Given the description of an element on the screen output the (x, y) to click on. 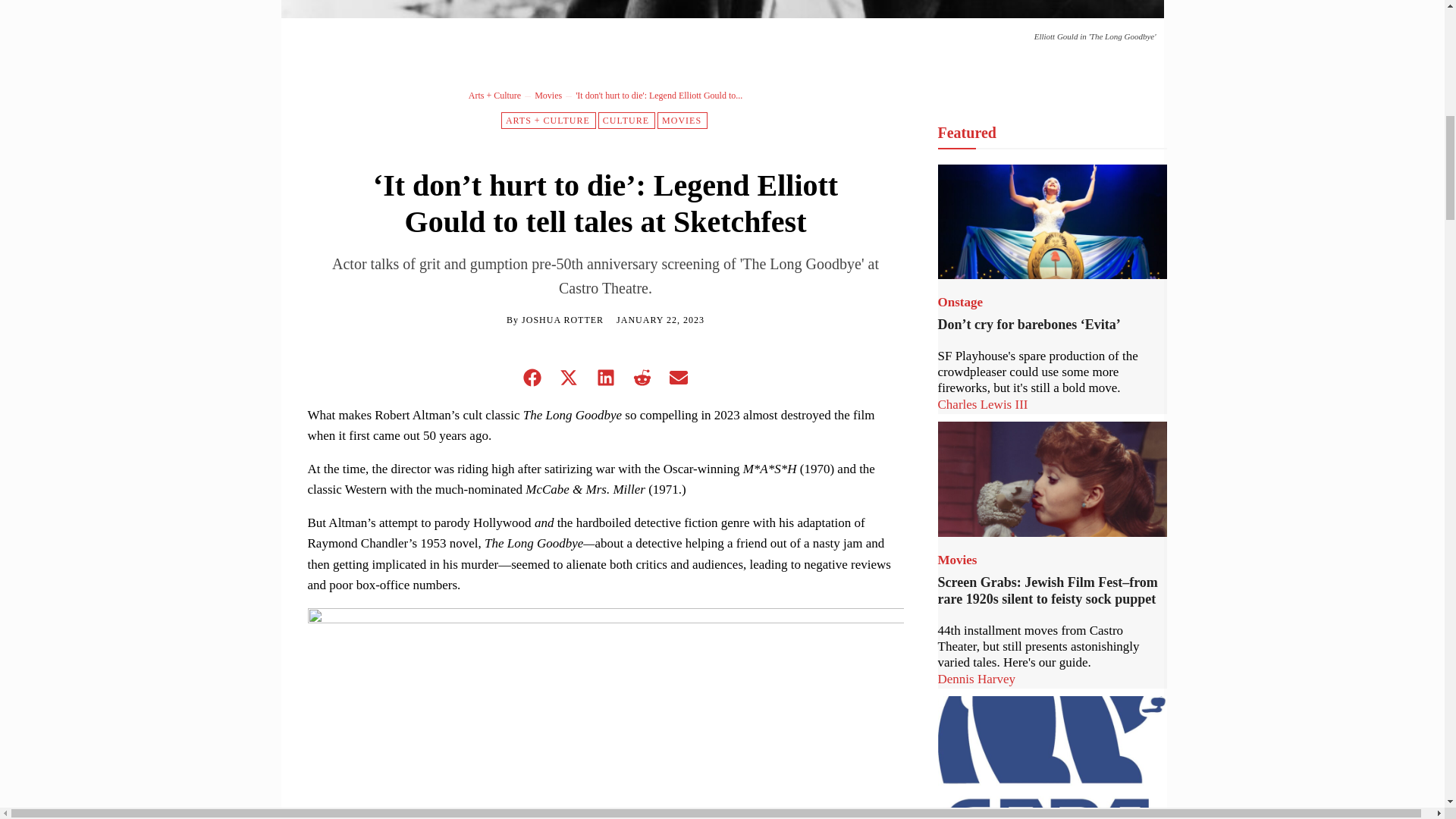
View all posts in Movies (548, 95)
elliott-gould-long-goodbye (722, 9)
